Given the description of an element on the screen output the (x, y) to click on. 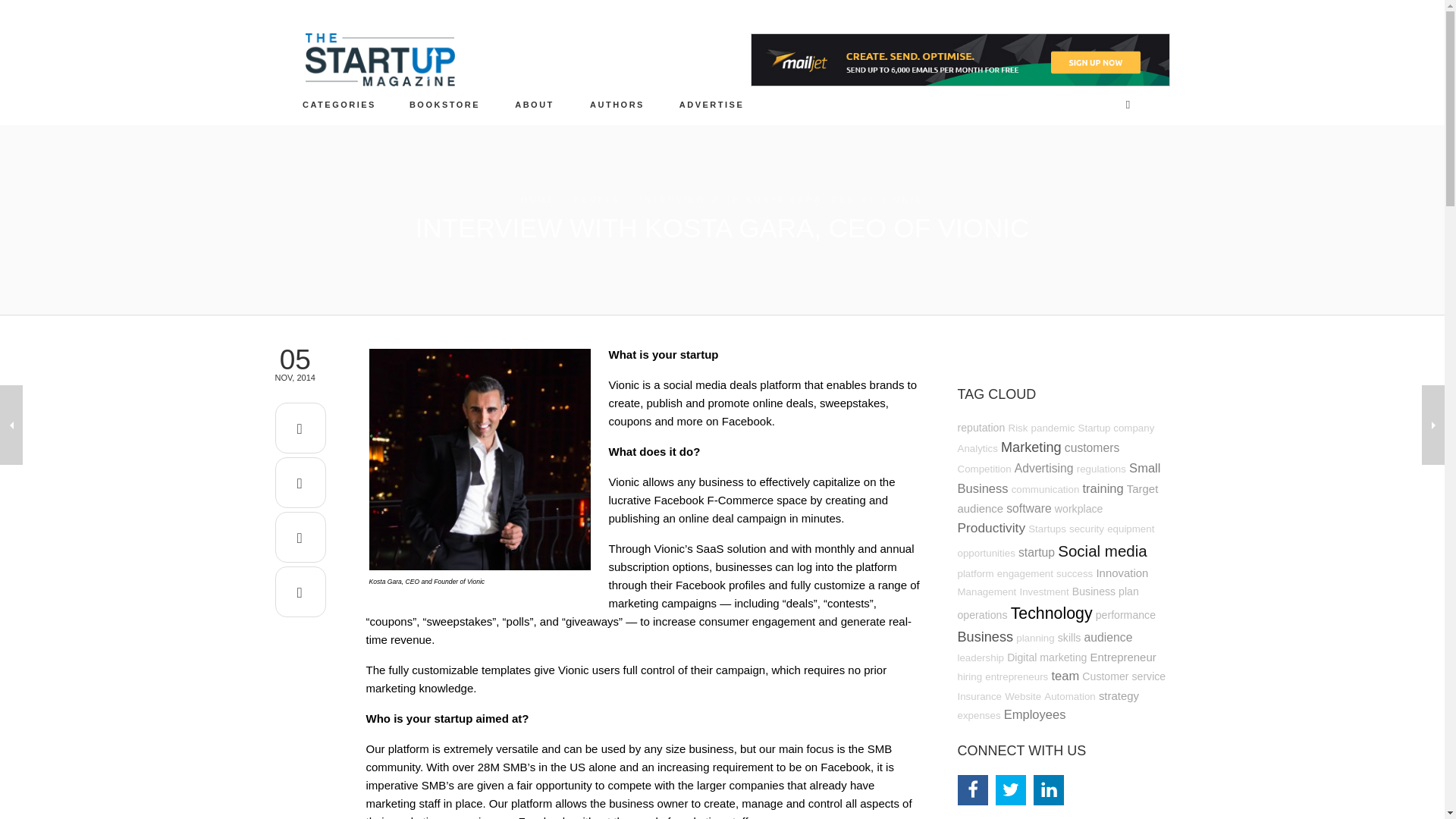
AUTHORS (617, 103)
184 topics (1101, 469)
304 topics (1091, 447)
BOOKSTORE (445, 103)
155 topics (976, 448)
176 topics (983, 469)
Categories (339, 103)
317 topics (1044, 468)
161 topics (1116, 428)
186 topics (1045, 489)
